Given the description of an element on the screen output the (x, y) to click on. 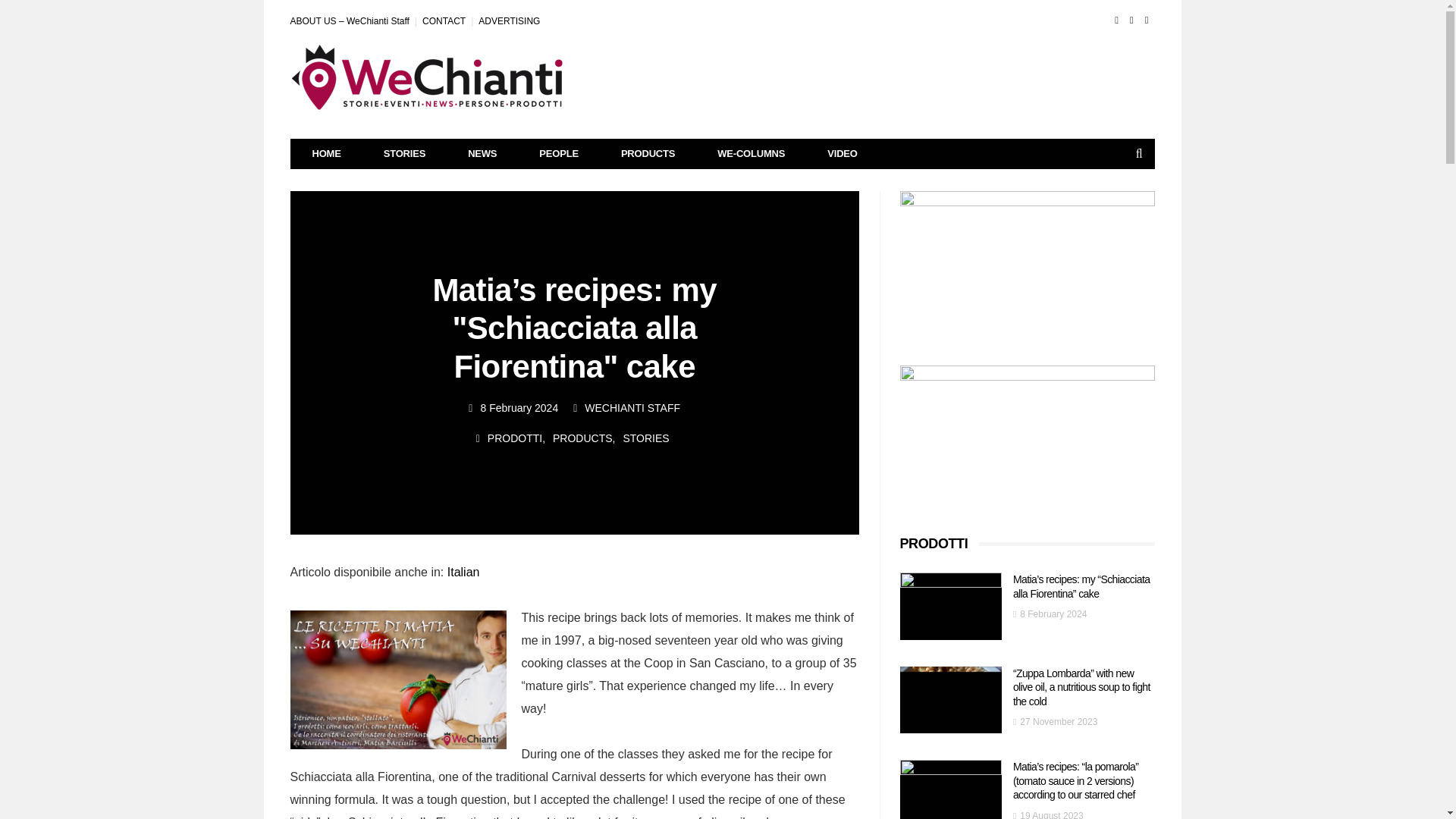
HOME (326, 153)
WE-COLUMNS (750, 153)
NEWS (482, 153)
STORIES (645, 438)
Italian (463, 572)
PEOPLE (558, 153)
VIDEO (841, 153)
PRODOTTI (514, 438)
STORIES (404, 153)
WECHIANTI STAFF (632, 408)
PRODUCTS (582, 438)
PRODUCTS (647, 153)
ADVERTISING (509, 20)
CONTACT (443, 20)
